Given the description of an element on the screen output the (x, y) to click on. 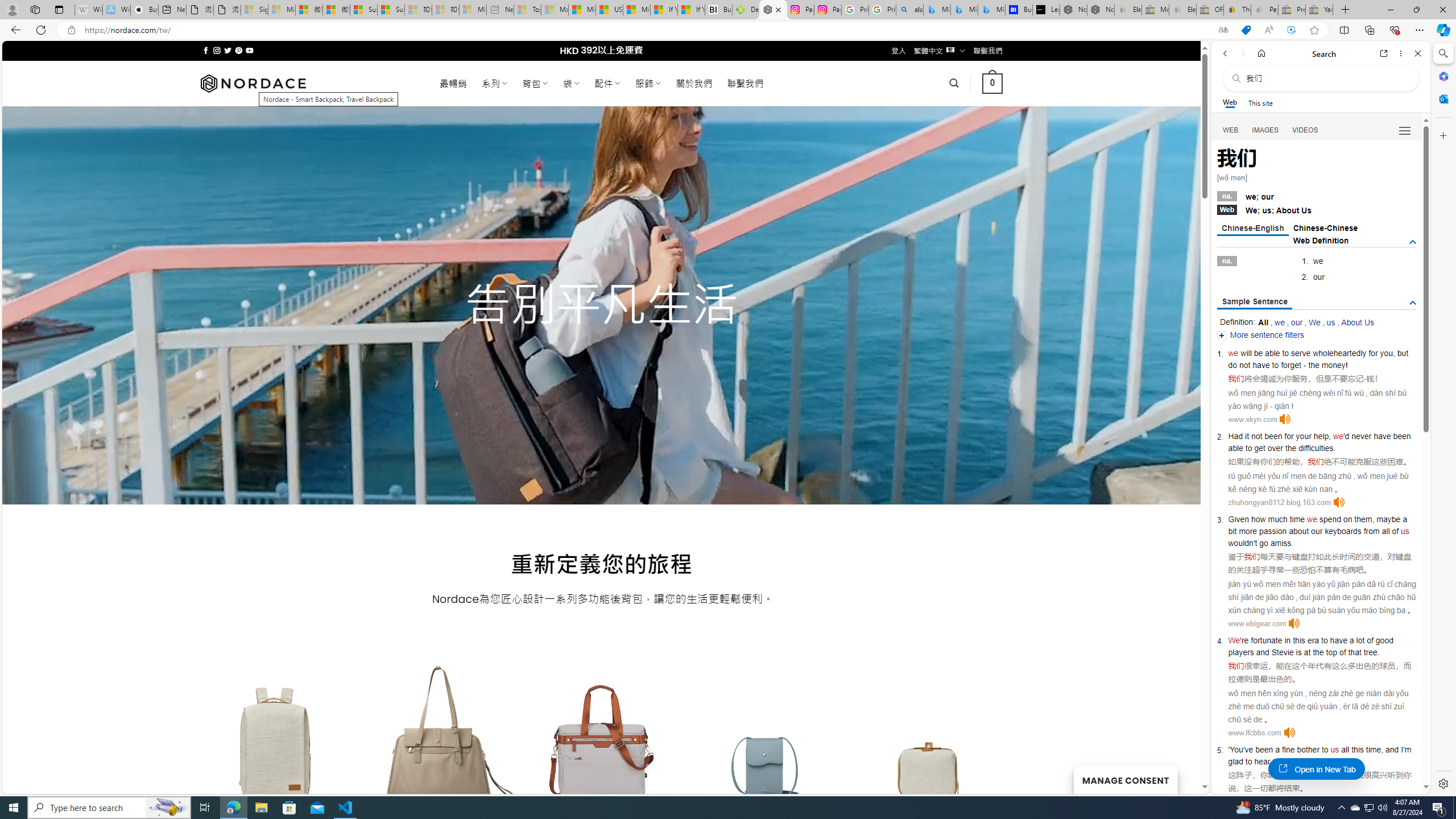
not (1256, 435)
us (1334, 749)
Us (1306, 209)
US Heat Deaths Soared To Record High Last Year (609, 9)
zhuhongyan8112.blog.163.com (1278, 501)
